Given the description of an element on the screen output the (x, y) to click on. 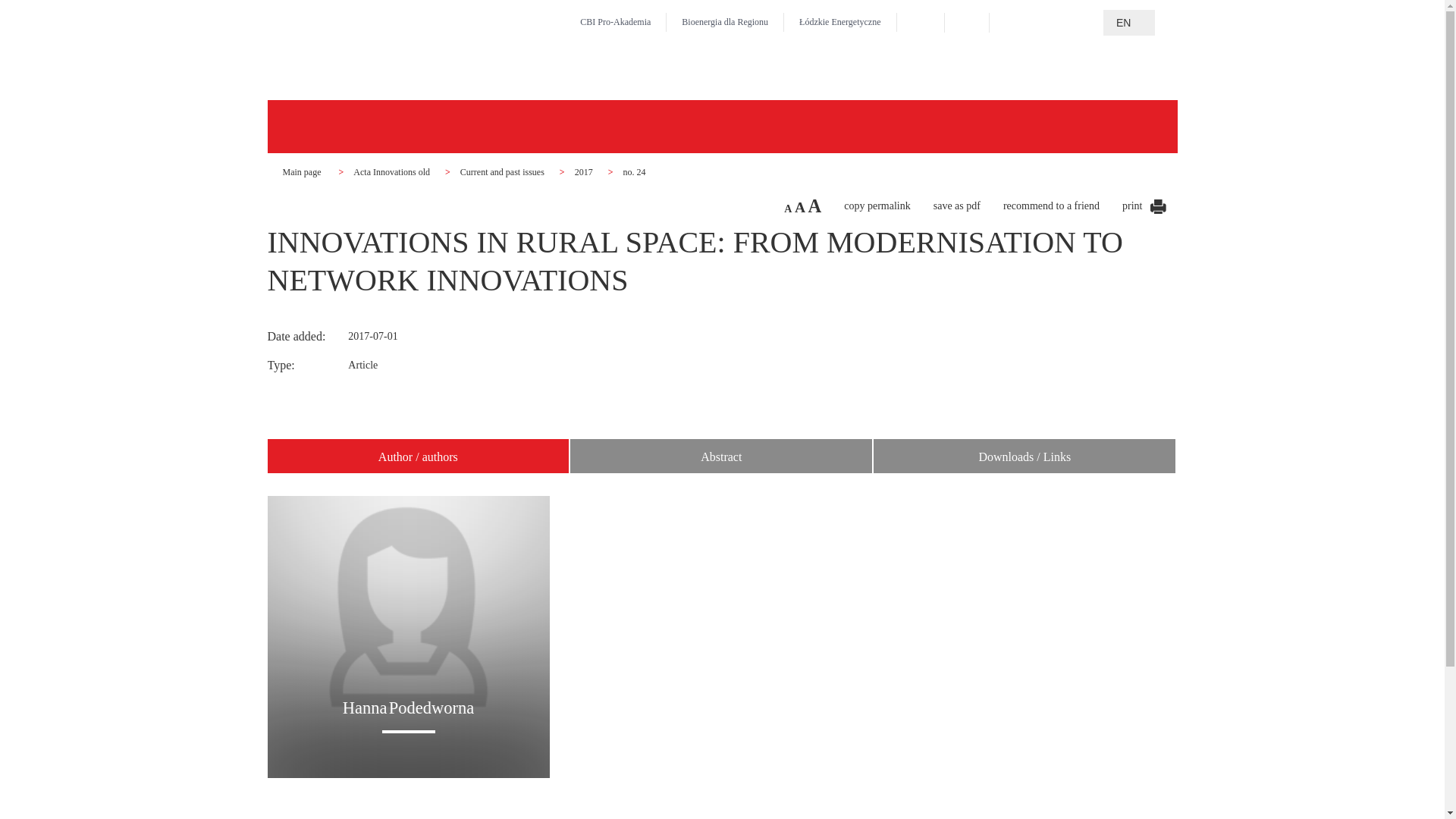
copy permalink (877, 205)
2017 (583, 172)
save as pdf (1139, 201)
print (1144, 205)
save as pdf (956, 205)
recommend to a friend (1051, 205)
Current and past issues (501, 172)
Acta Innovations old (392, 172)
CBI Pro-Akademia (614, 21)
Bioenergia dla Regionu (724, 21)
